Given the description of an element on the screen output the (x, y) to click on. 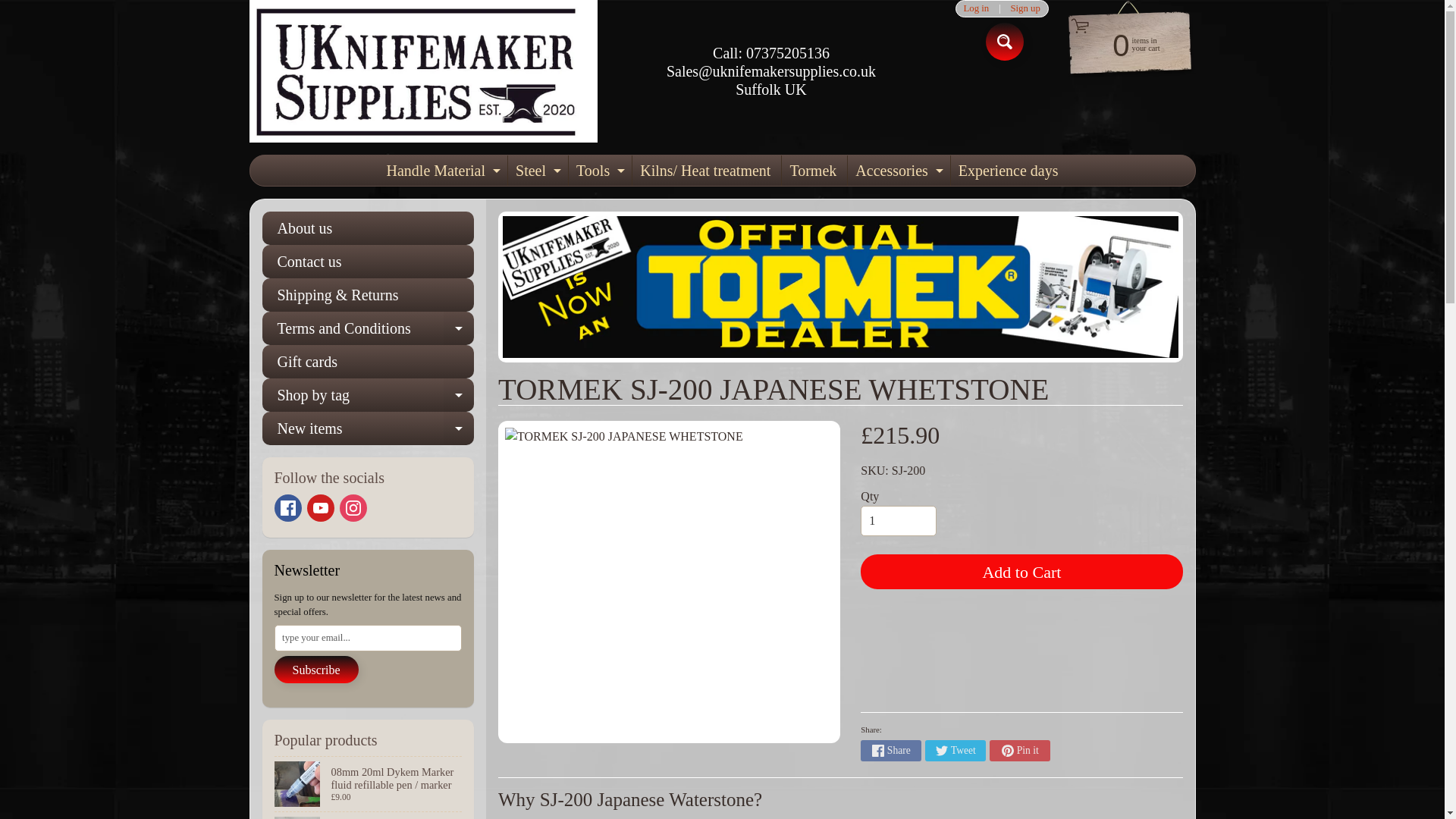
Facebook (288, 507)
Search (1004, 41)
Tweet on Twitter (954, 750)
Share on Facebook (890, 750)
Pin on Pinterest (1019, 750)
Sign up (1025, 8)
Search (1004, 41)
Log in (975, 8)
Instagram (352, 507)
